Given the description of an element on the screen output the (x, y) to click on. 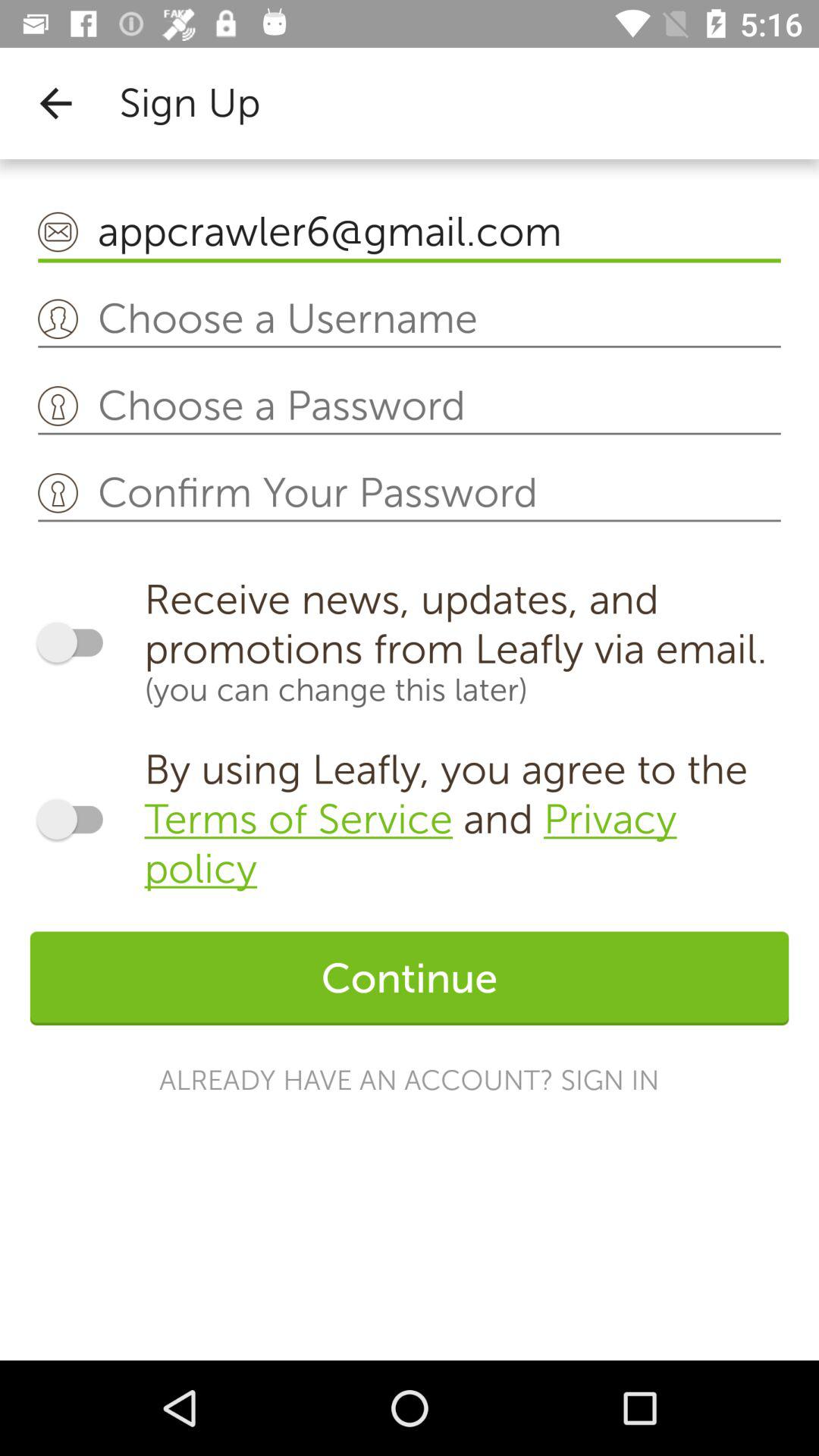
confirm your password (409, 493)
